Given the description of an element on the screen output the (x, y) to click on. 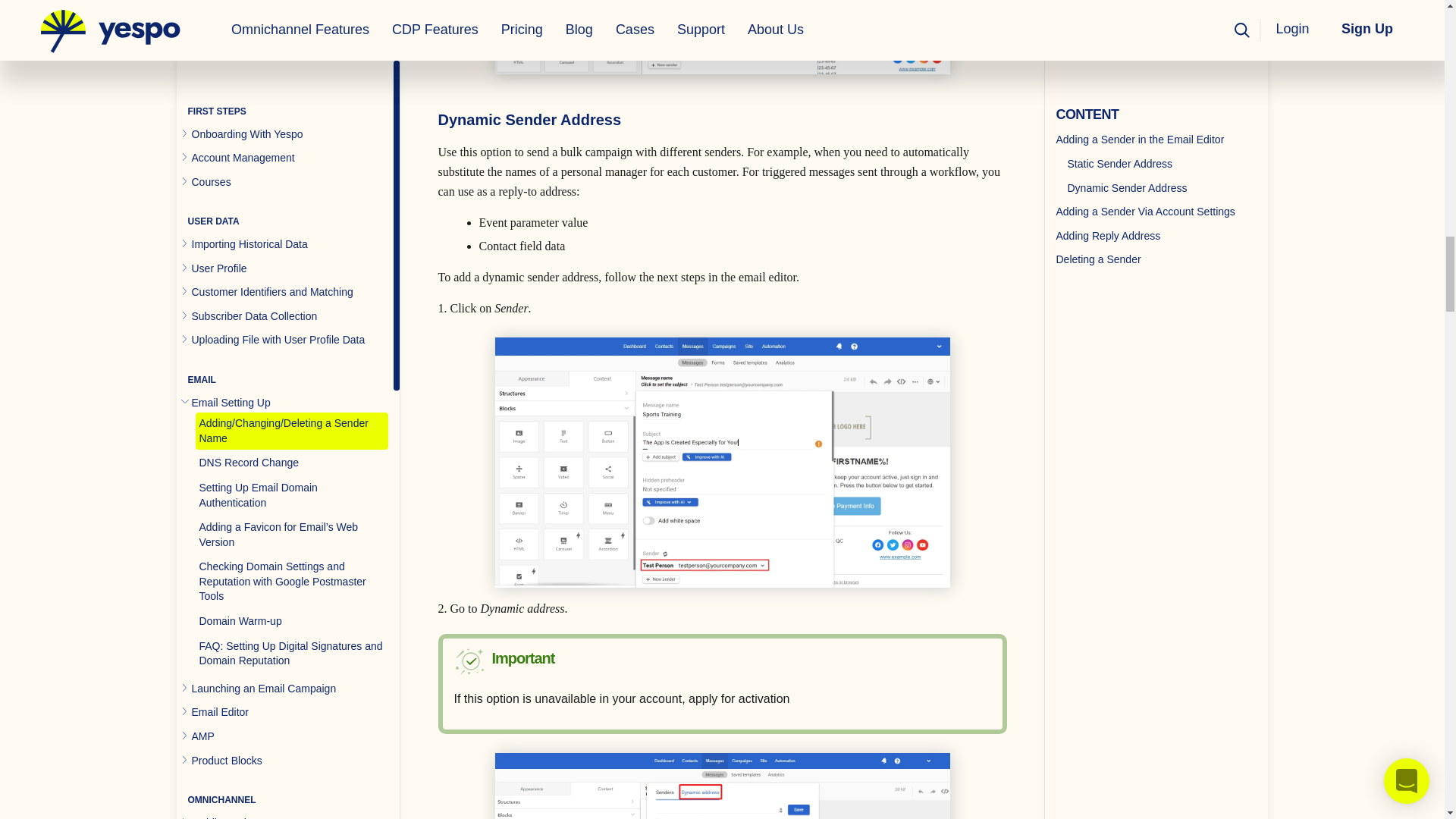
Click on sender (722, 462)
Select the necessary sender name (722, 37)
Adding dynamic address (722, 785)
